Given the description of an element on the screen output the (x, y) to click on. 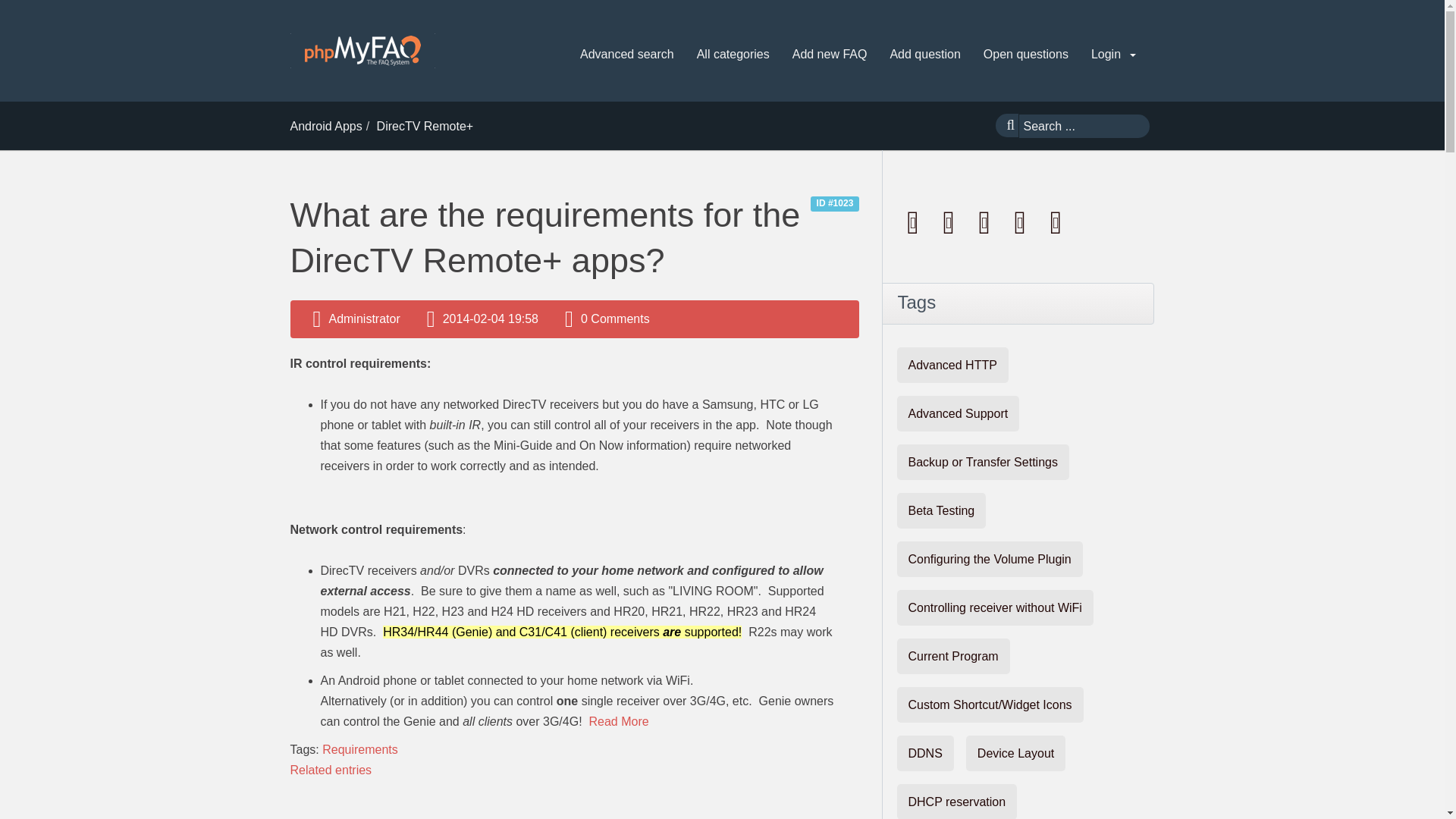
Login (1112, 53)
Print this record (950, 221)
Requirements (359, 748)
Add new FAQ (829, 53)
0 Comments (614, 318)
Android Apps (325, 125)
Controlling receiver without WiFi (994, 607)
Cognitial Software FAQs (361, 50)
DDNS (924, 753)
Open questions (1025, 53)
FAQs for Android apps from Cognitial Mobile (325, 125)
Advanced search (626, 53)
Requirements (359, 748)
All categories (732, 53)
Advanced Support (957, 413)
